Given the description of an element on the screen output the (x, y) to click on. 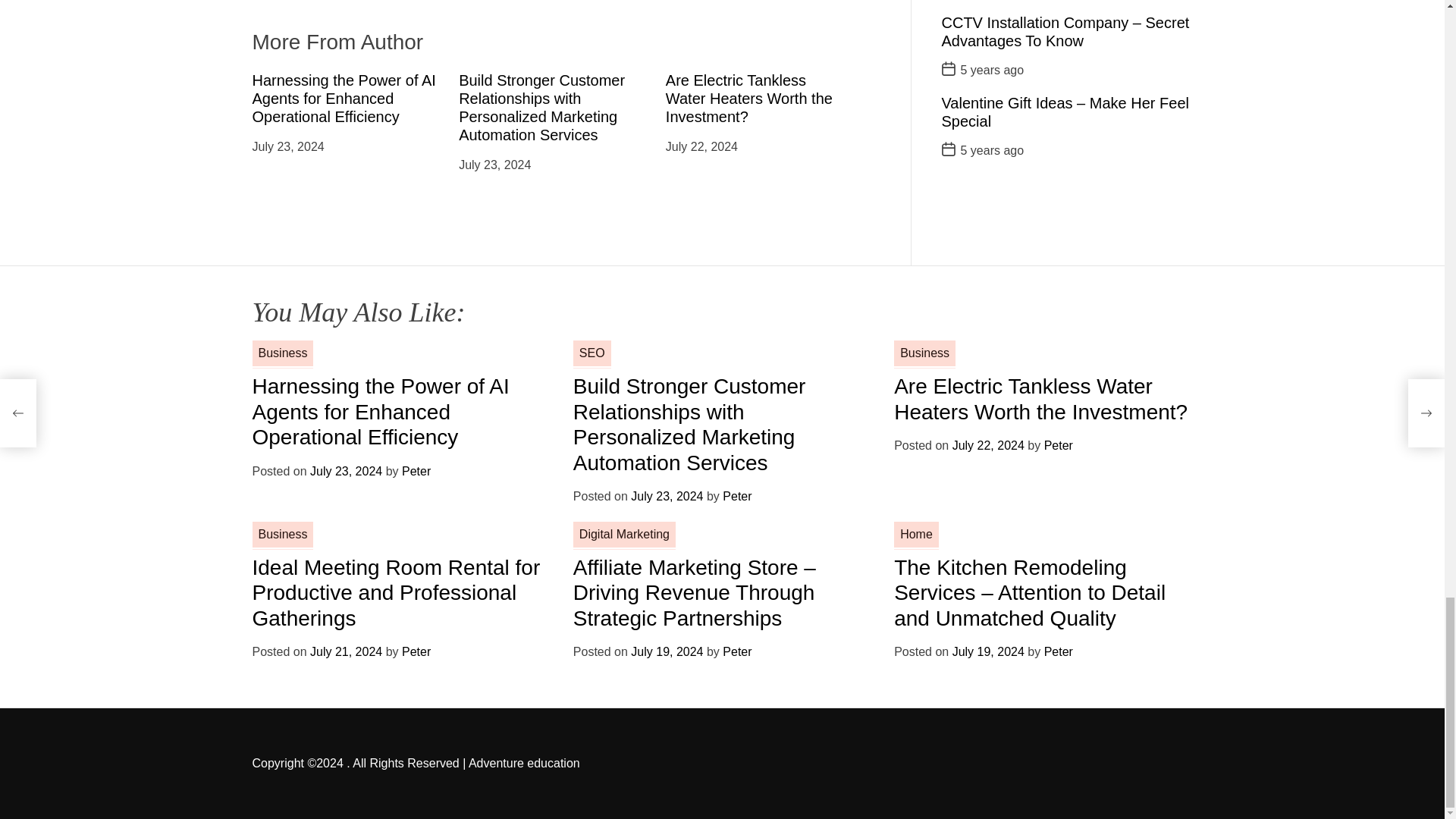
Are Electric Tankless Water Heaters Worth the Investment? (748, 98)
